Given the description of an element on the screen output the (x, y) to click on. 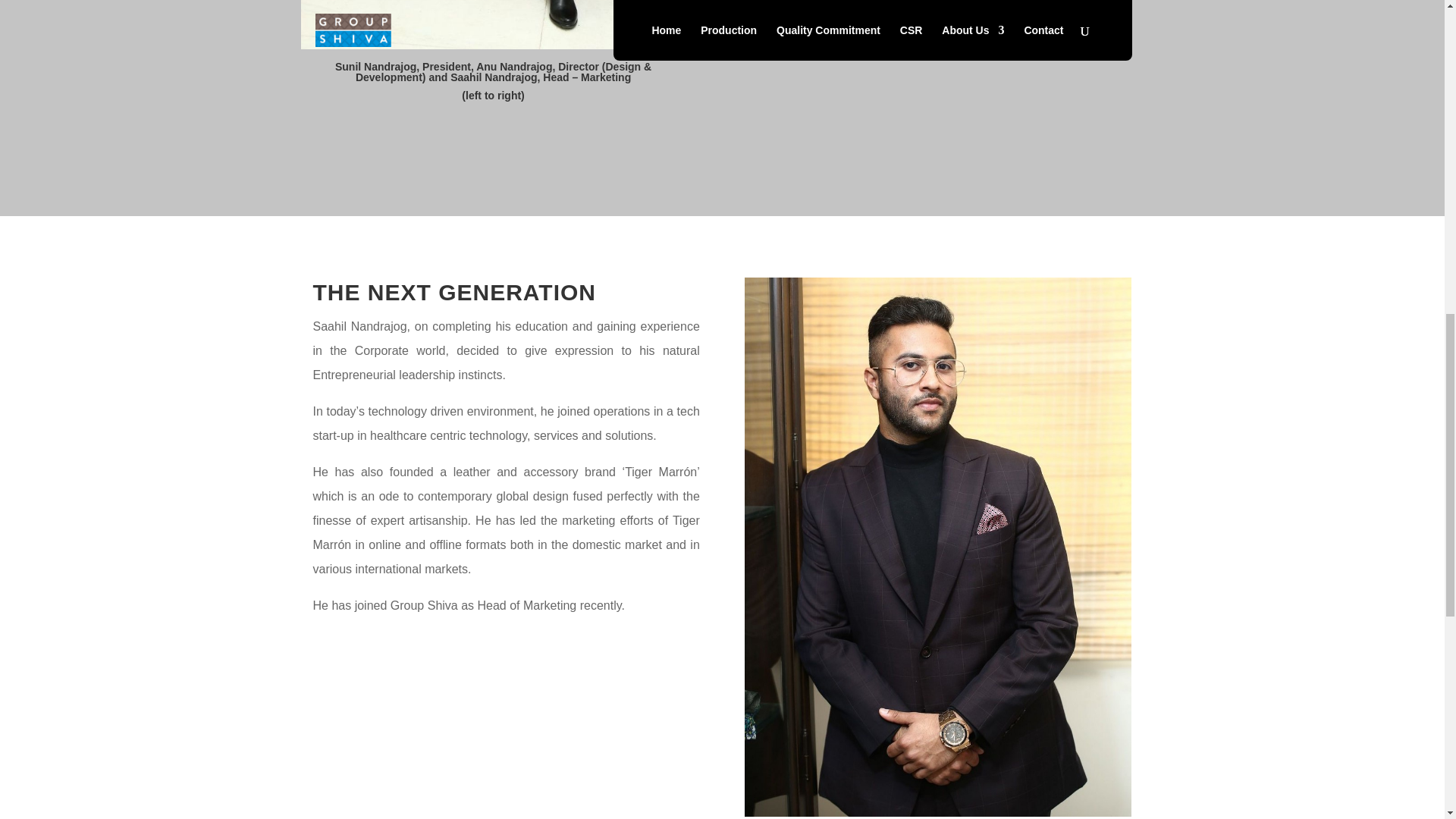
Factory00136 (520, 24)
